Given the description of an element on the screen output the (x, y) to click on. 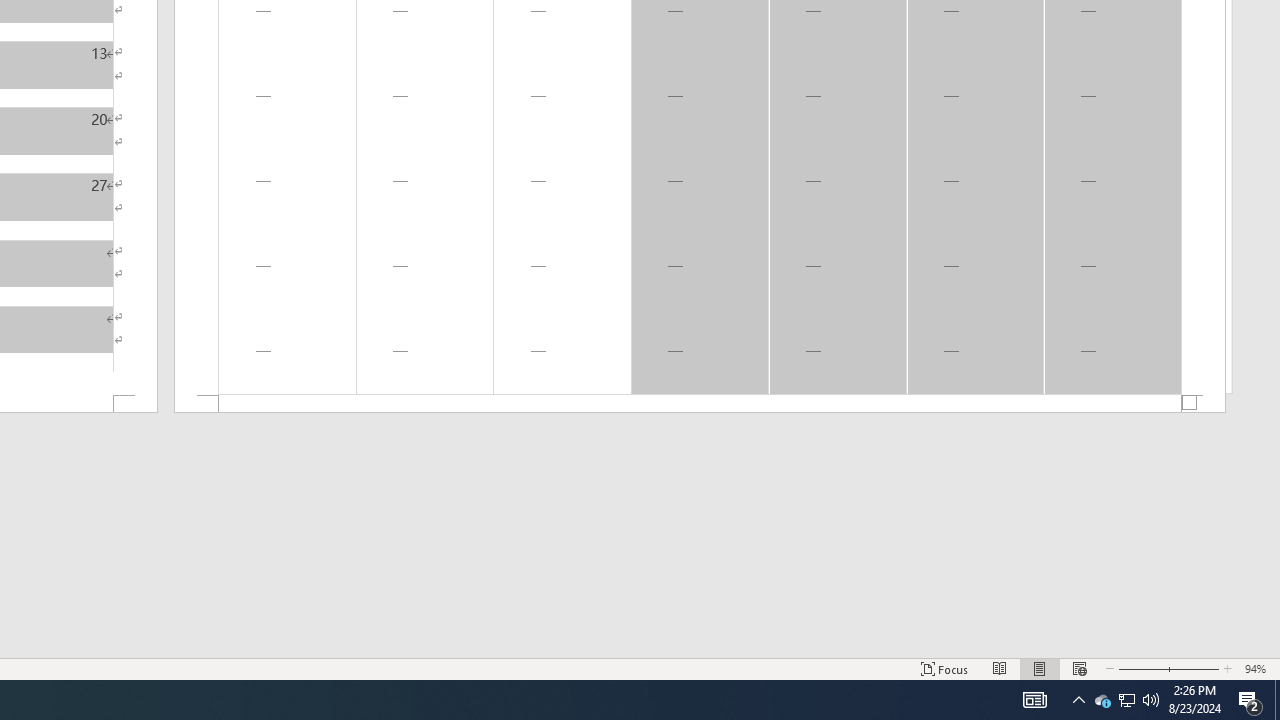
Show desktop (1277, 699)
Q2790: 100% (1151, 699)
User Promoted Notification Area (1126, 699)
AutomationID: 4105 (1102, 699)
